Given the description of an element on the screen output the (x, y) to click on. 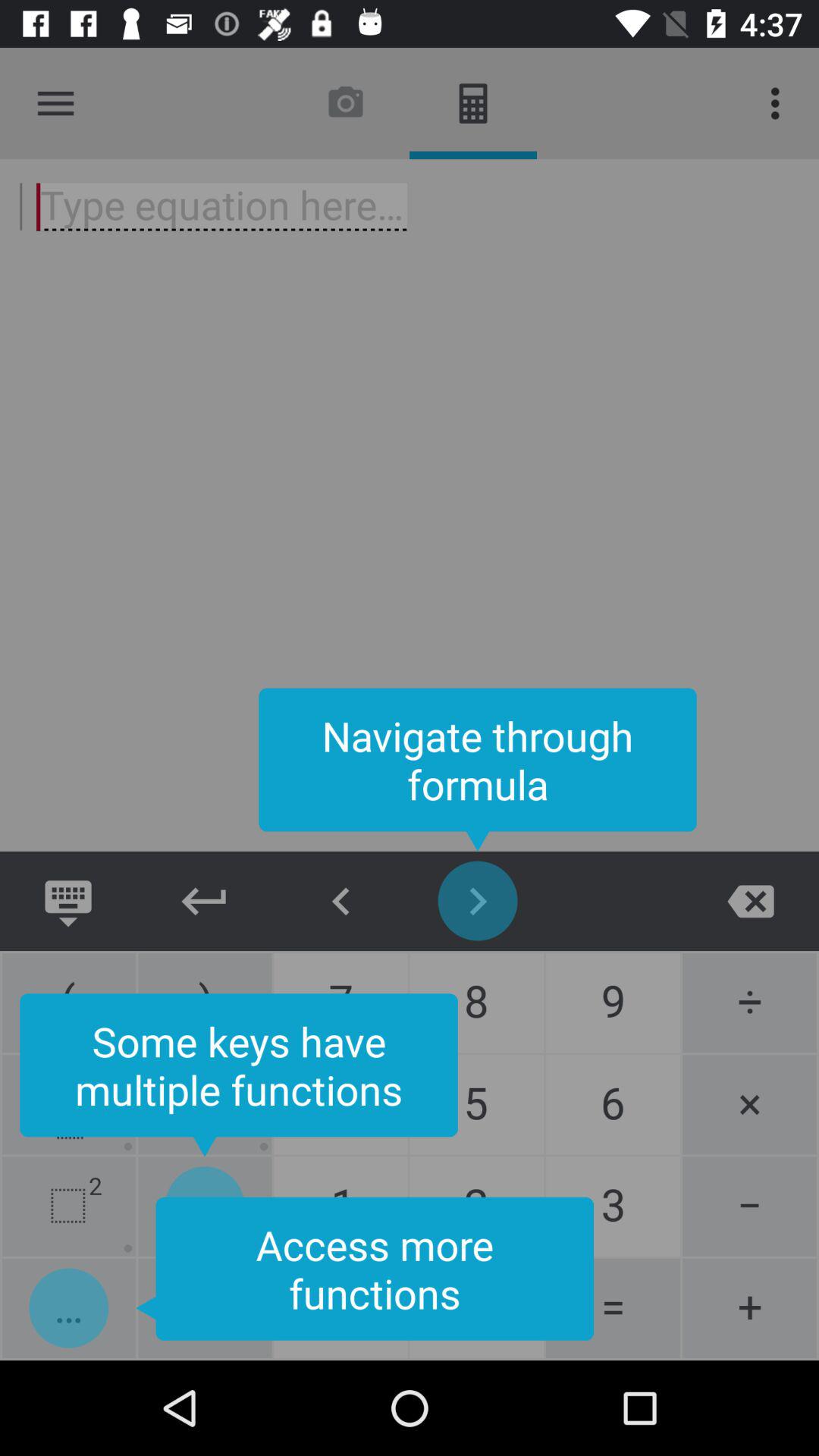
click on enter icon (204, 900)
click on the button left to  (613, 1308)
select the image which is beside camera (473, 103)
